Given the description of an element on the screen output the (x, y) to click on. 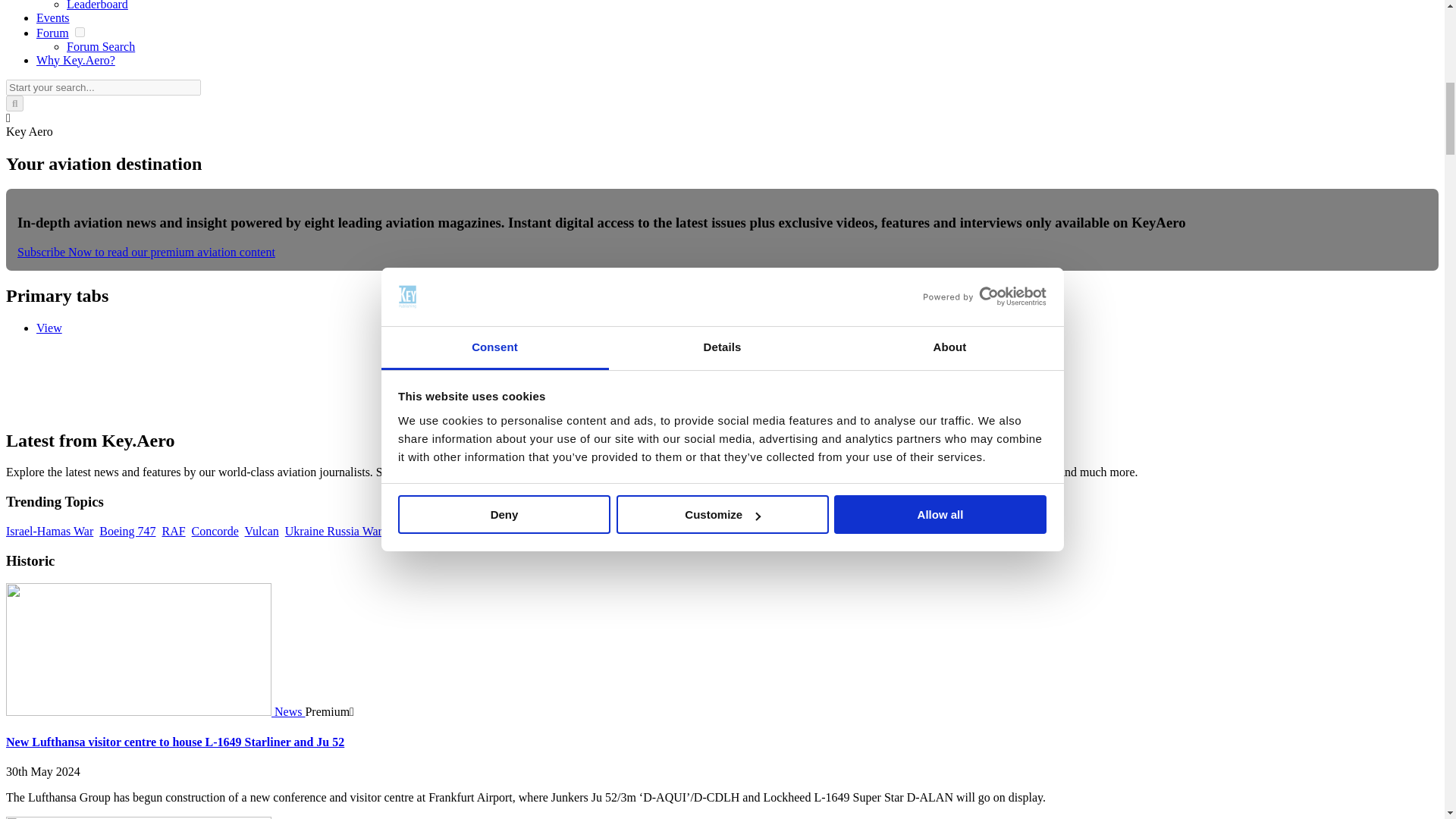
on (79, 31)
